Given the description of an element on the screen output the (x, y) to click on. 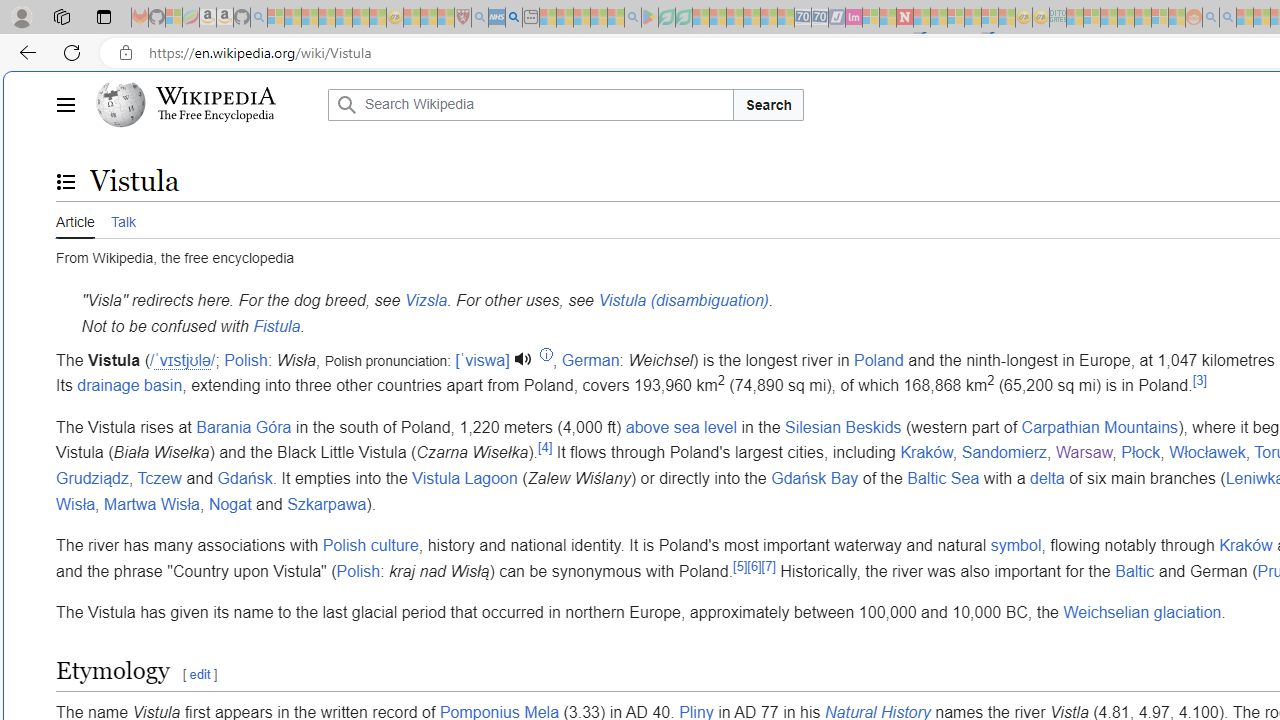
Latest Politics News & Archive | Newsweek.com - Sleeping (904, 17)
Weichselian glaciation (1142, 613)
